Given the description of an element on the screen output the (x, y) to click on. 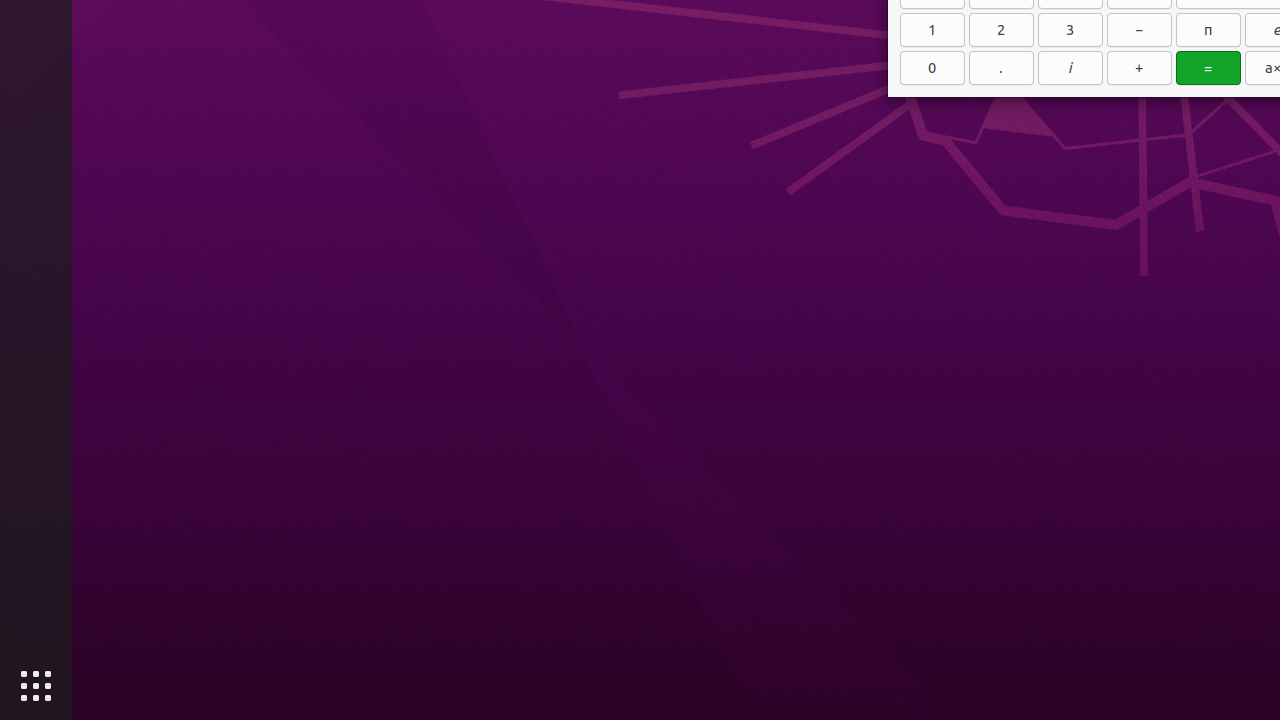
3 Element type: push-button (1070, 29)
+ Element type: push-button (1139, 68)
− Element type: push-button (1139, 29)
2 Element type: push-button (1001, 29)
